Given the description of an element on the screen output the (x, y) to click on. 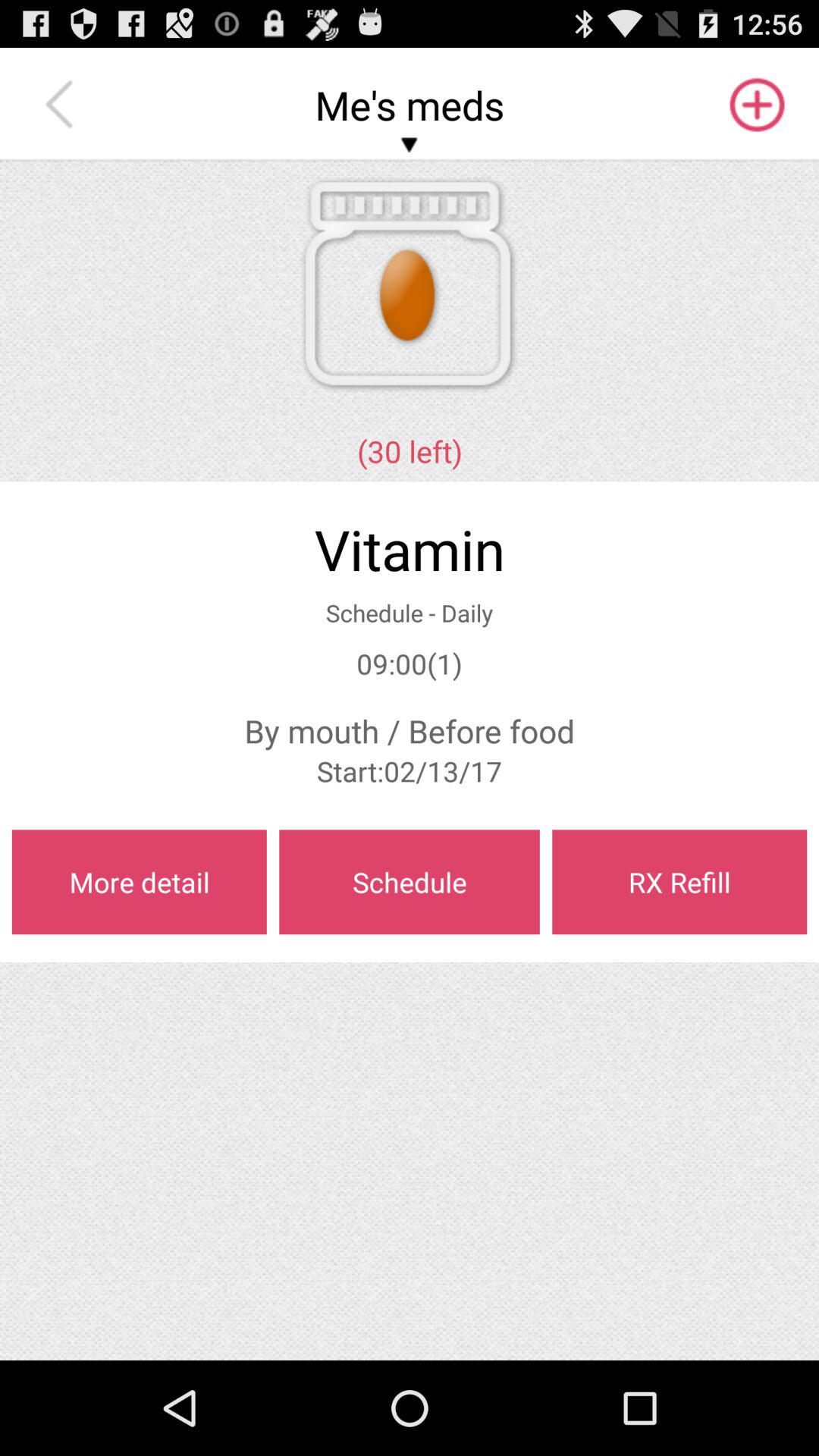
turn off the item at the top left corner (63, 104)
